Given the description of an element on the screen output the (x, y) to click on. 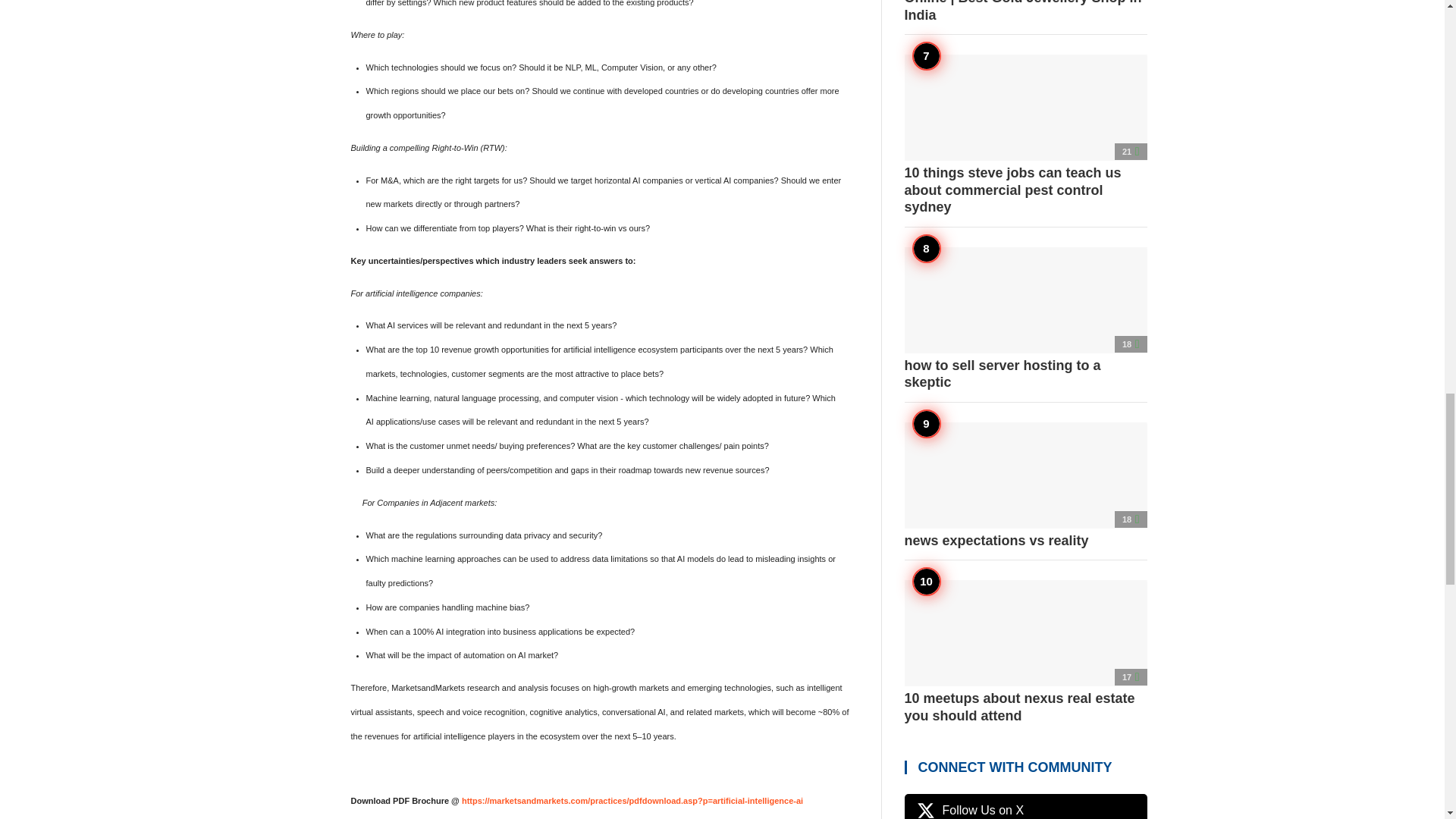
10 meetups about nexus real estate you should attend (1025, 651)
how to sell server hosting to a skeptic (1025, 319)
news expectations vs reality (1025, 484)
